Given the description of an element on the screen output the (x, y) to click on. 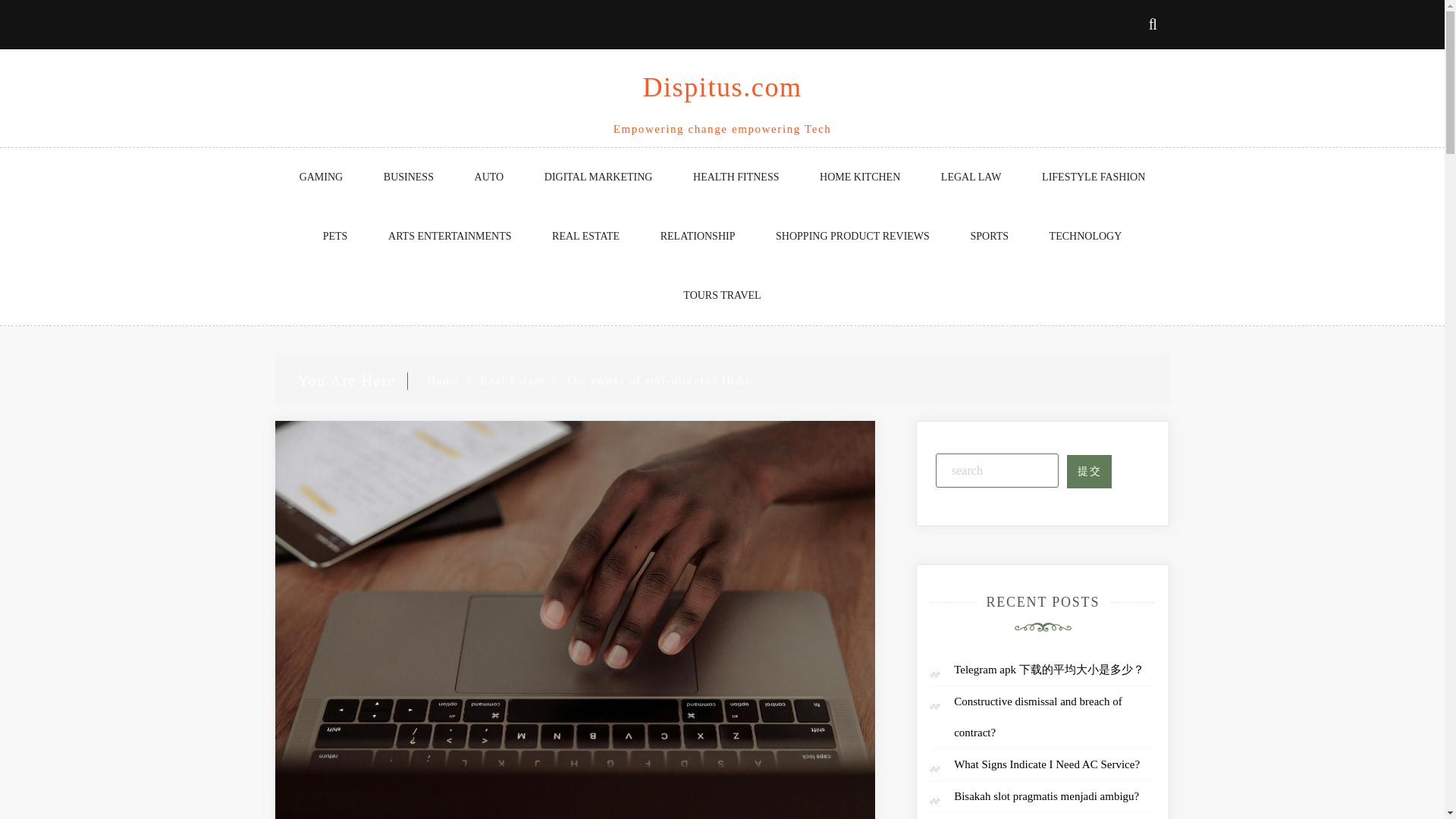
PETS (335, 236)
HOME KITCHEN (860, 177)
SPORTS (989, 236)
Home (443, 380)
BUSINESS (408, 177)
SHOPPING PRODUCT REVIEWS (852, 236)
HEALTH FITNESS (735, 177)
GAMING (321, 177)
What Signs Indicate I Need AC Service? (1046, 764)
TECHNOLOGY (1085, 236)
TOURS TRAVEL (721, 295)
LIFESTYLE FASHION (1093, 177)
Real Estate (512, 380)
ARTS ENTERTAINMENTS (449, 236)
REAL ESTATE (585, 236)
